Given the description of an element on the screen output the (x, y) to click on. 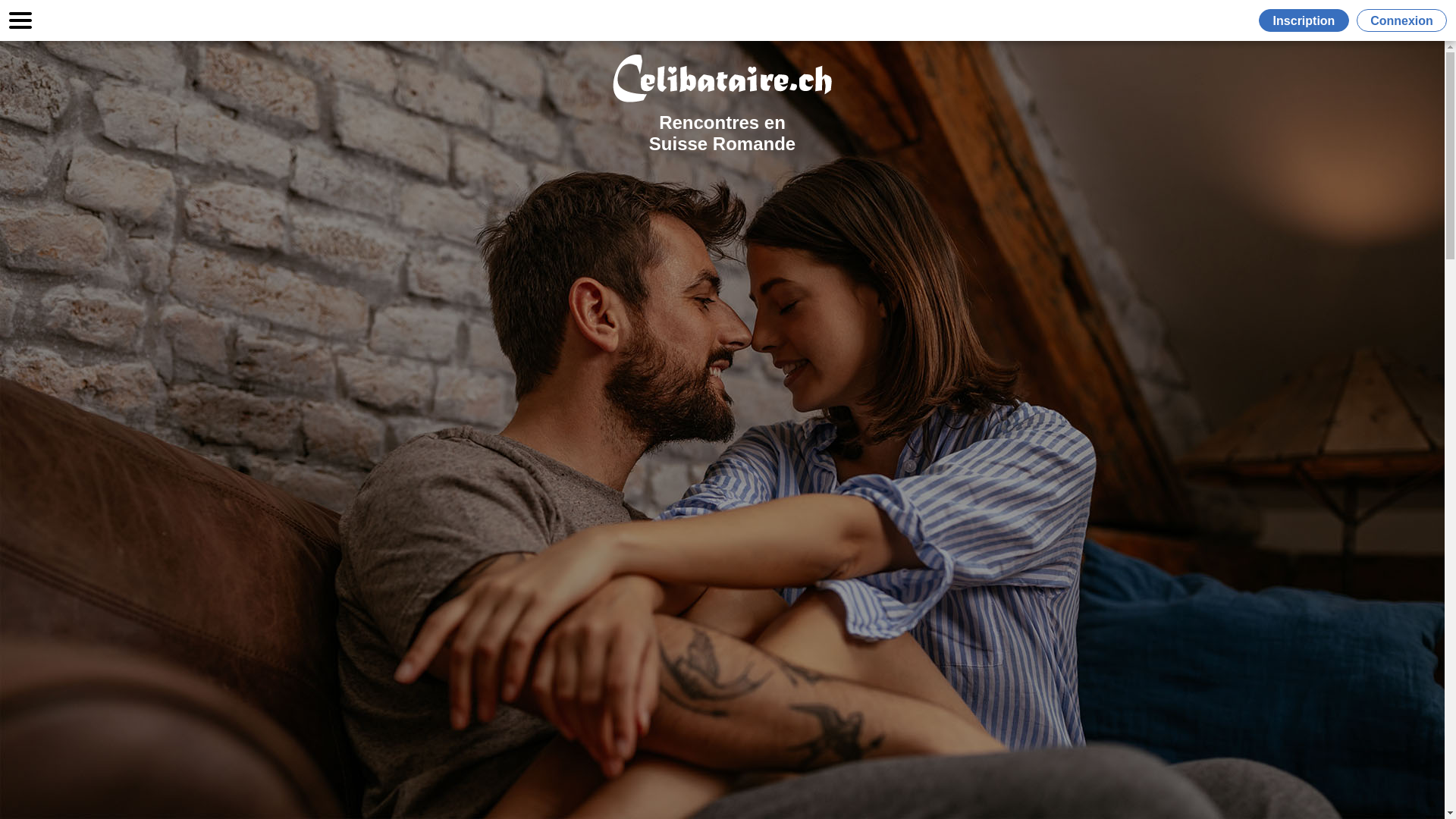
Inscription Element type: text (1307, 20)
Connexion Element type: text (1401, 20)
